Given the description of an element on the screen output the (x, y) to click on. 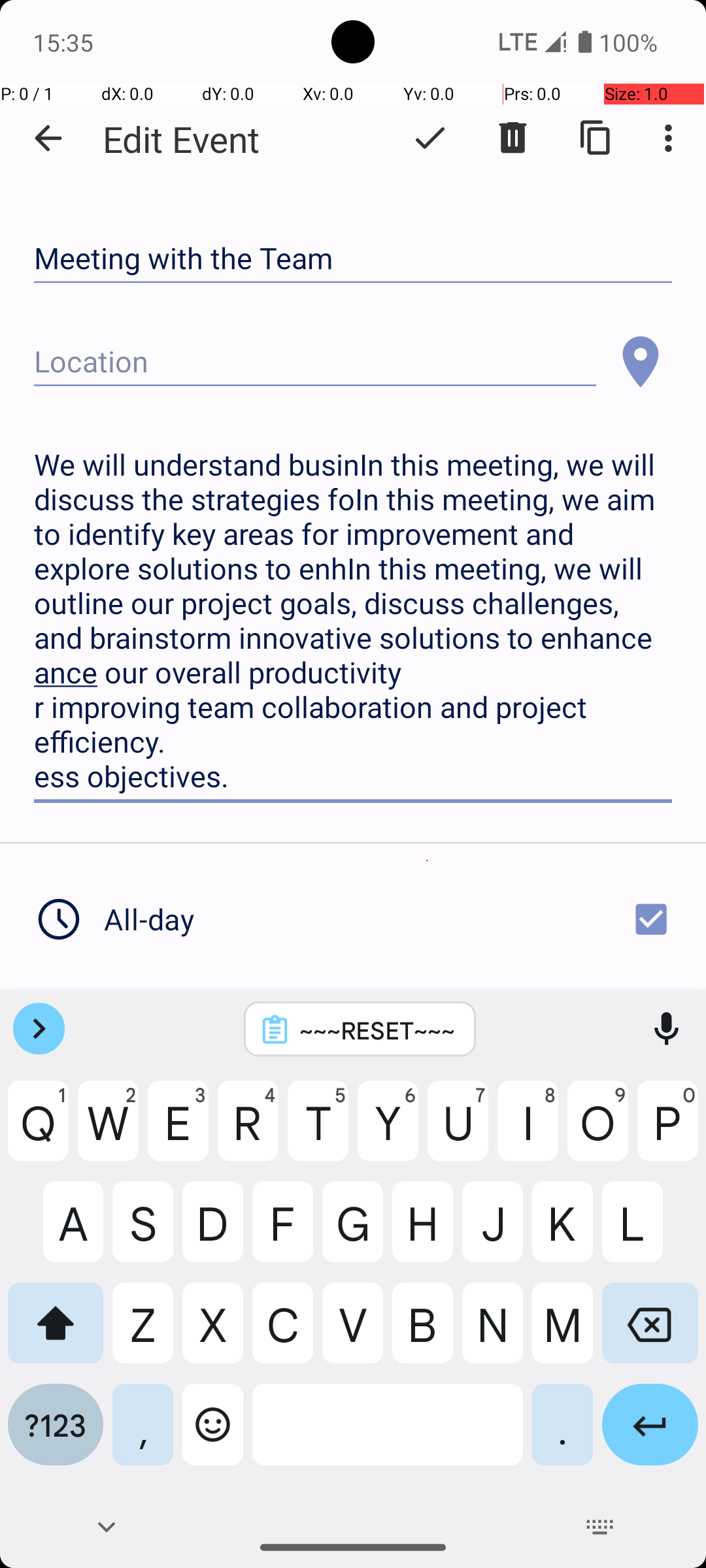
We will understand businIn this meeting, we will discuss the strategies foIn this meeting, we aim to identify key areas for improvement and explore solutions to enhIn this meeting, we will outline our project goals, discuss challenges, and brainstorm innovative solutions to enhance
ance our overall productivity
r improving team collaboration and project efficiency.
ess objectives. Element type: android.widget.EditText (352, 620)
October 18 (Wed) Element type: android.widget.TextView (232, 1021)
